Given the description of an element on the screen output the (x, y) to click on. 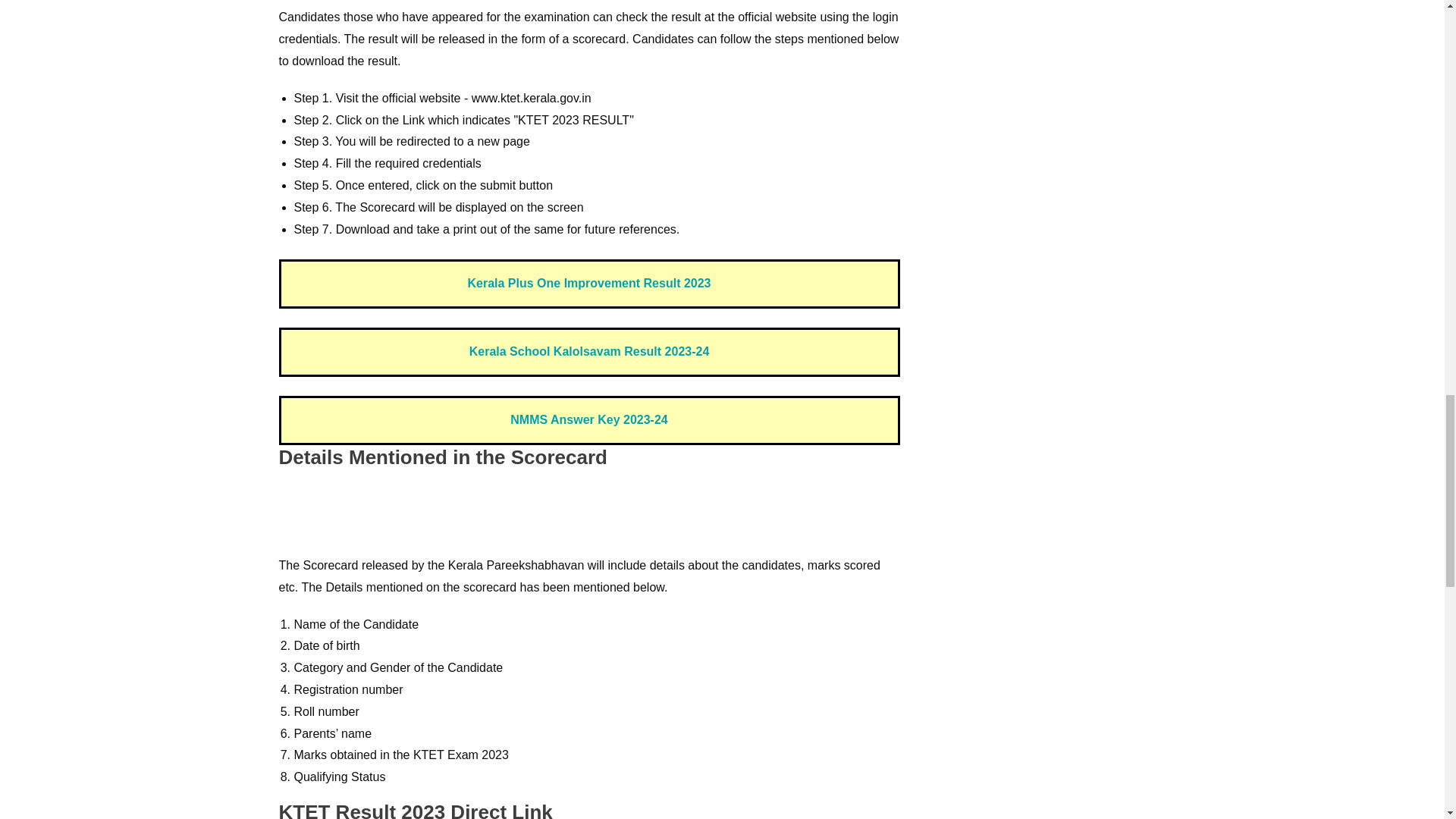
Kerala School Kalolsavam Result 2023-24 (589, 350)
Kerala Plus One Improvement Result 2023 (588, 282)
NMMS Answer Key 2023-24 (589, 419)
